Given the description of an element on the screen output the (x, y) to click on. 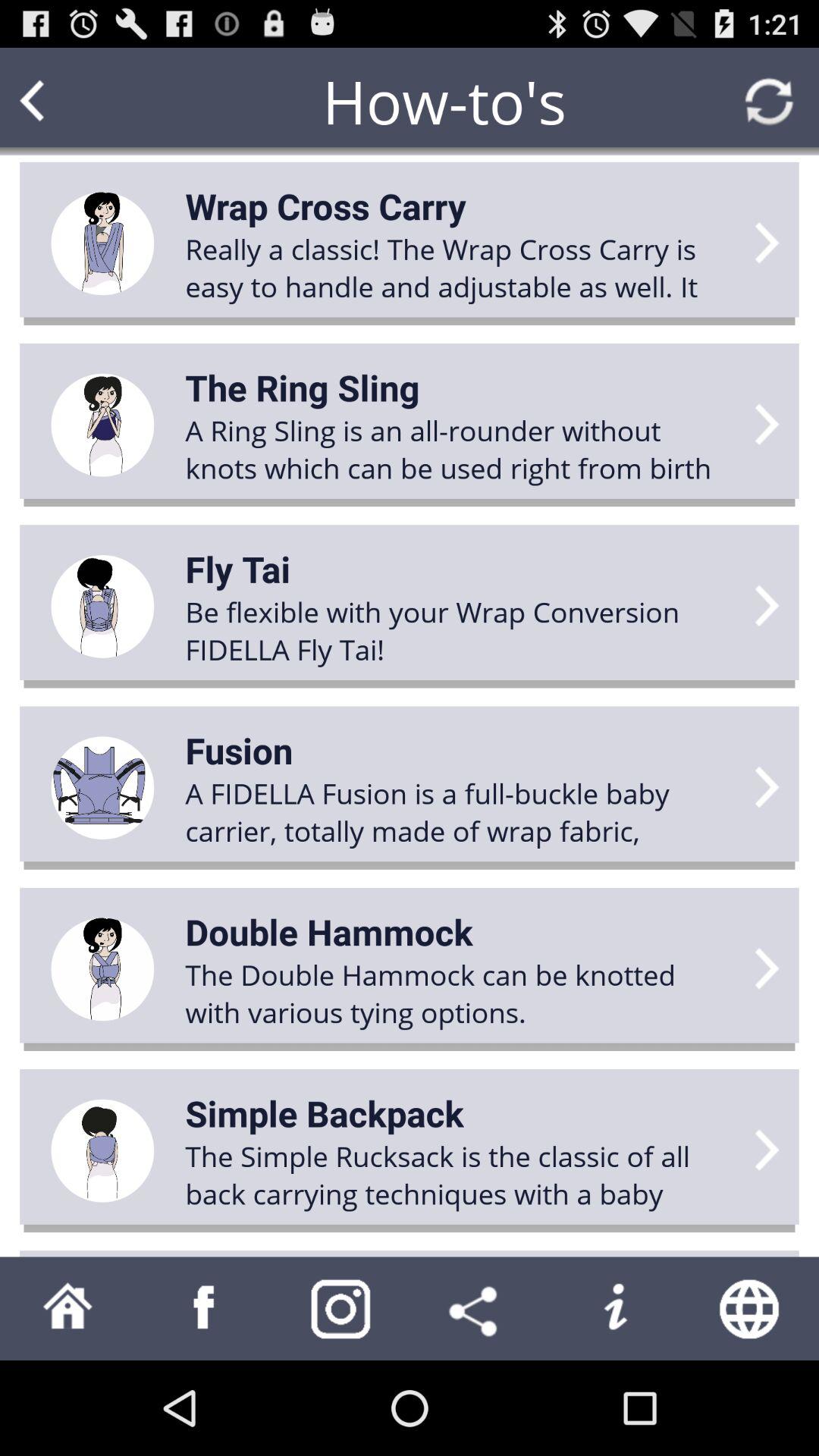
turn off a fidella fusion icon (460, 811)
